Given the description of an element on the screen output the (x, y) to click on. 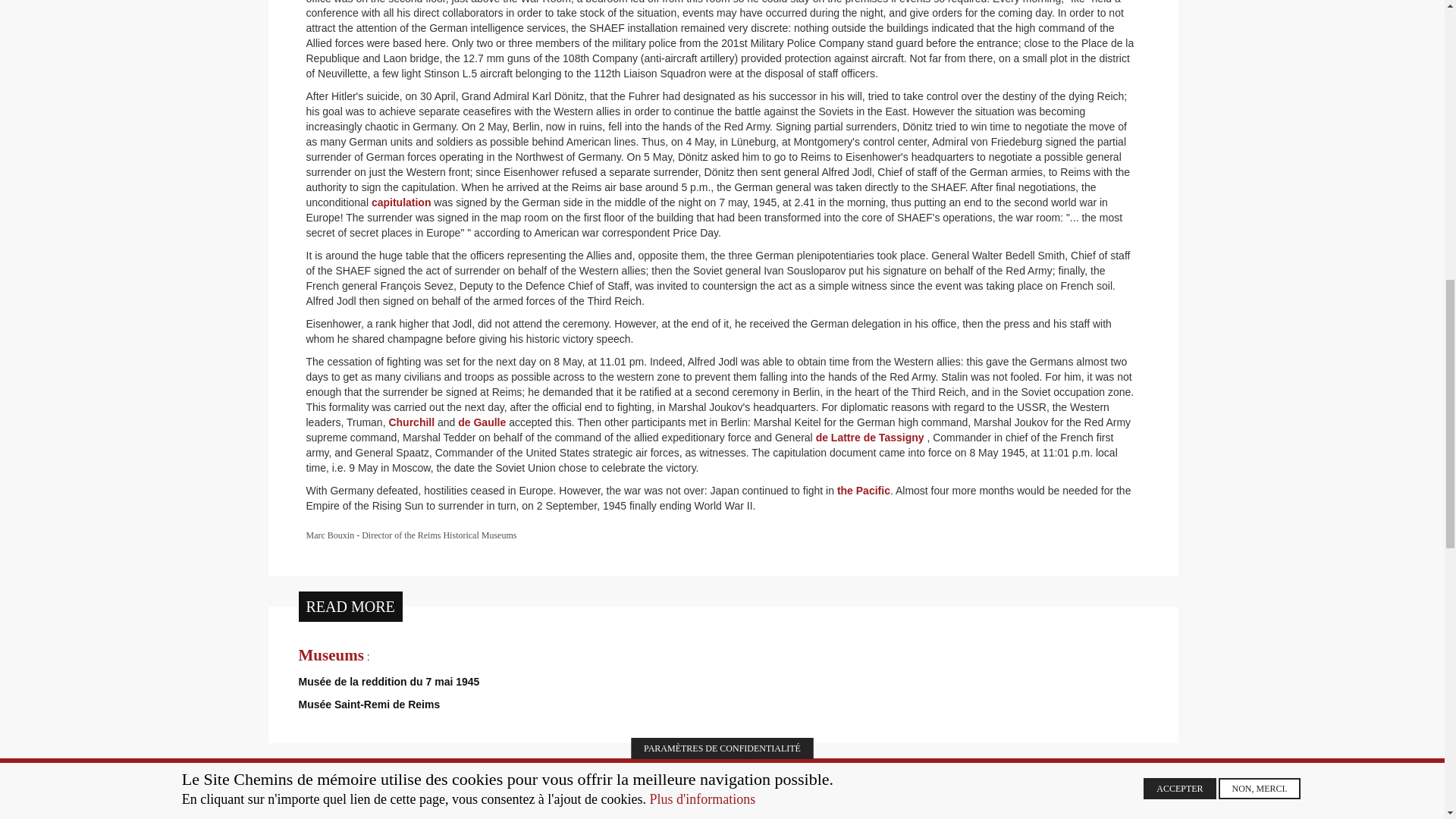
de Lattre de Tassigny (869, 437)
capitulation (400, 202)
the Pacific (863, 490)
de Gaulle (481, 422)
Churchill (410, 422)
